Given the description of an element on the screen output the (x, y) to click on. 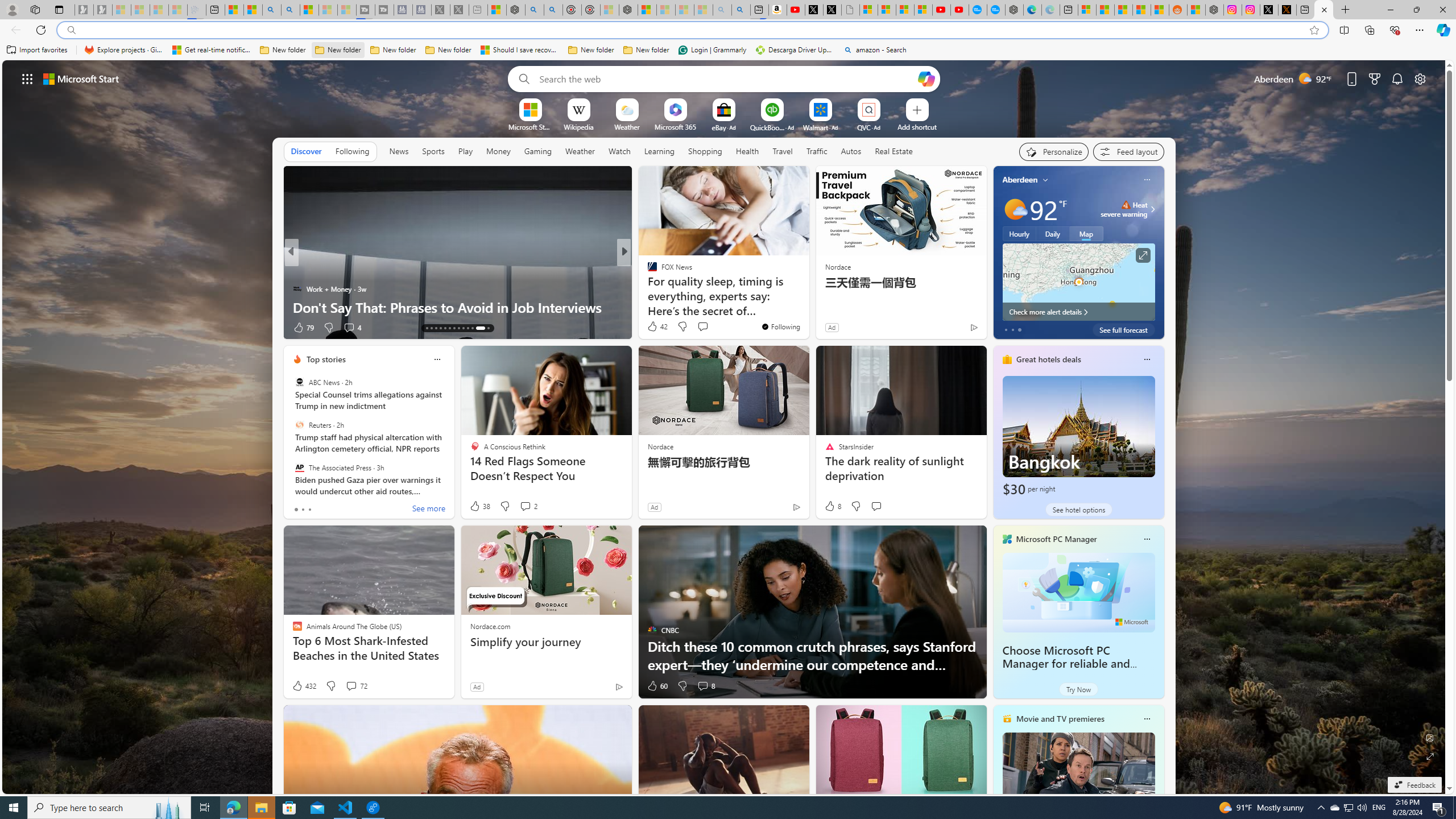
Top stories (325, 359)
AutomationID: tab-14 (431, 328)
AutomationID: waffle (27, 78)
Class: weather-arrow-glyph (1152, 208)
AutomationID: tab-24 (480, 328)
Mostly sunny (1014, 208)
